Given the description of an element on the screen output the (x, y) to click on. 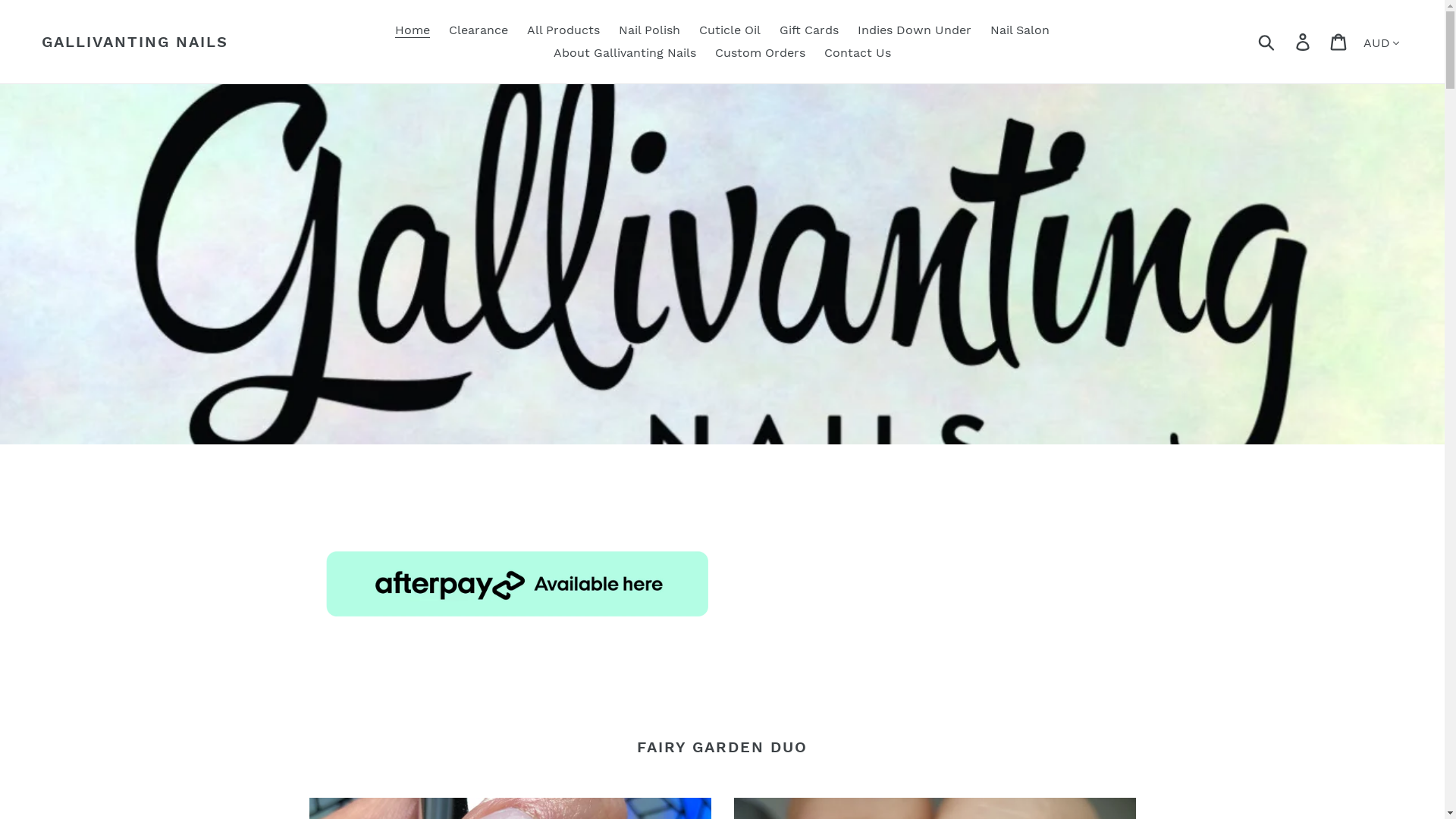
Nail Salon Element type: text (1019, 29)
About Gallivanting Nails Element type: text (624, 52)
Contact Us Element type: text (857, 52)
Clearance Element type: text (478, 29)
Custom Orders Element type: text (759, 52)
GALLIVANTING NAILS Element type: text (134, 41)
Cuticle Oil Element type: text (729, 29)
Cart Element type: text (1339, 42)
All Products Element type: text (563, 29)
Log in Element type: text (1303, 42)
Nail Polish Element type: text (649, 29)
Gift Cards Element type: text (808, 29)
Home Element type: text (412, 29)
Indies Down Under Element type: text (914, 29)
Submit Element type: text (1267, 41)
